Given the description of an element on the screen output the (x, y) to click on. 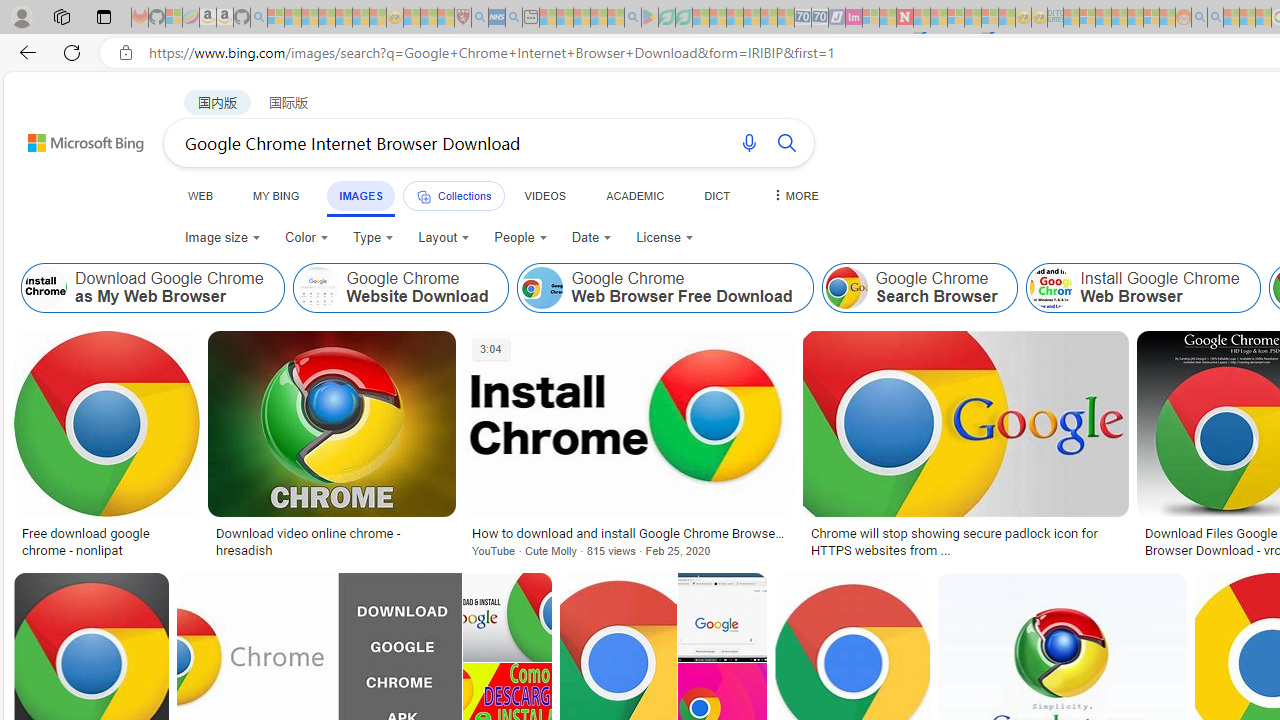
IMAGES (360, 196)
google - Search - Sleeping (632, 17)
Utah sues federal government - Search - Sleeping (1215, 17)
14 Common Myths Debunked By Scientific Facts - Sleeping (938, 17)
Google Chrome Web Browser Free Download (542, 287)
Back to Bing search (73, 138)
Color (305, 237)
Color (305, 237)
Download video online chrome - hresadishSave (335, 448)
MORE (793, 195)
